Given the description of an element on the screen output the (x, y) to click on. 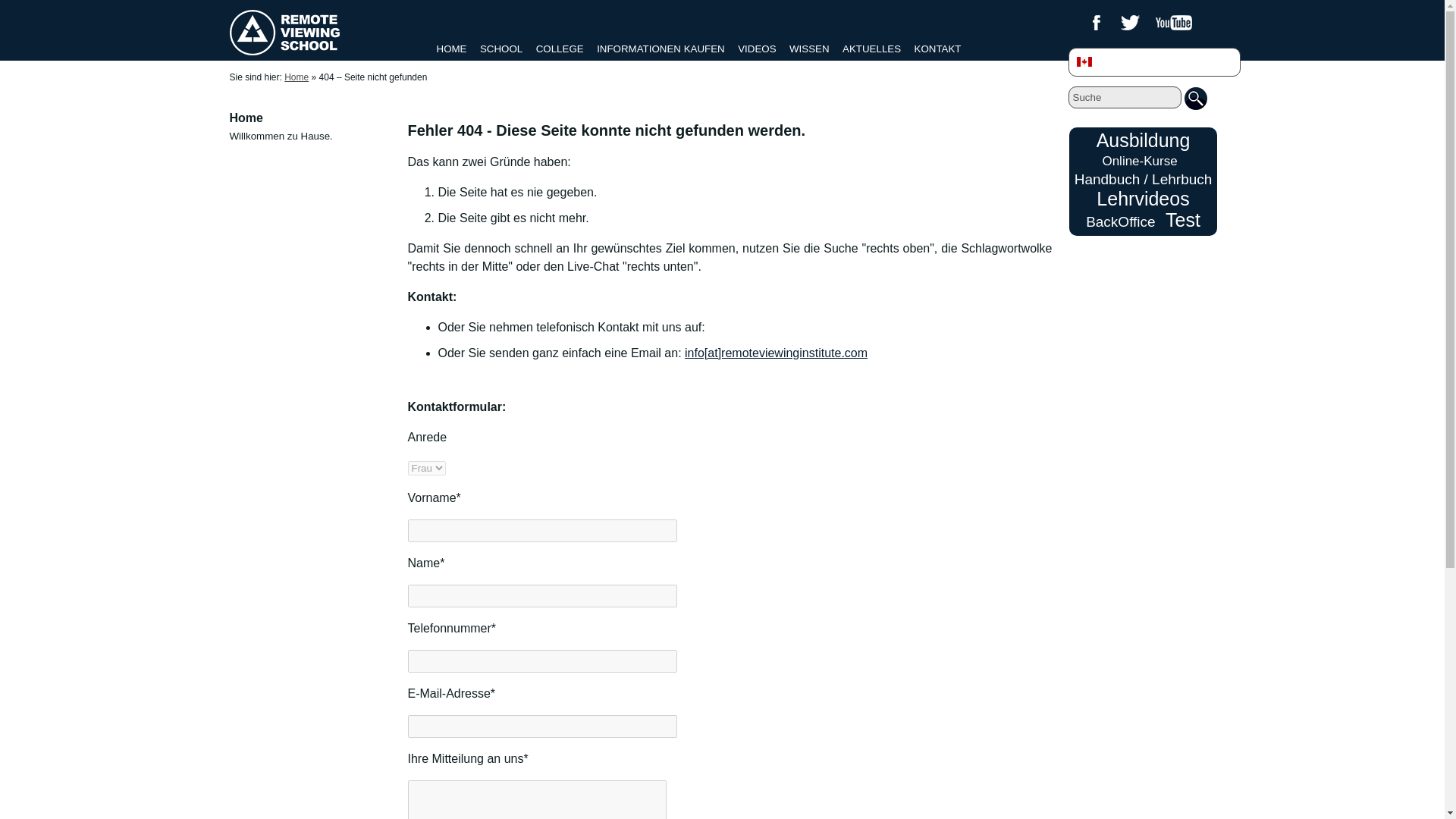
Suche (1123, 97)
HOME (451, 48)
COLLEGE (559, 48)
Test (1182, 219)
Ausbildung (1143, 139)
Suche (1123, 97)
BackOffice (1121, 221)
Lehrvideos (1142, 198)
SCHOOL (501, 48)
Online-Kurse (1139, 160)
